Given the description of an element on the screen output the (x, y) to click on. 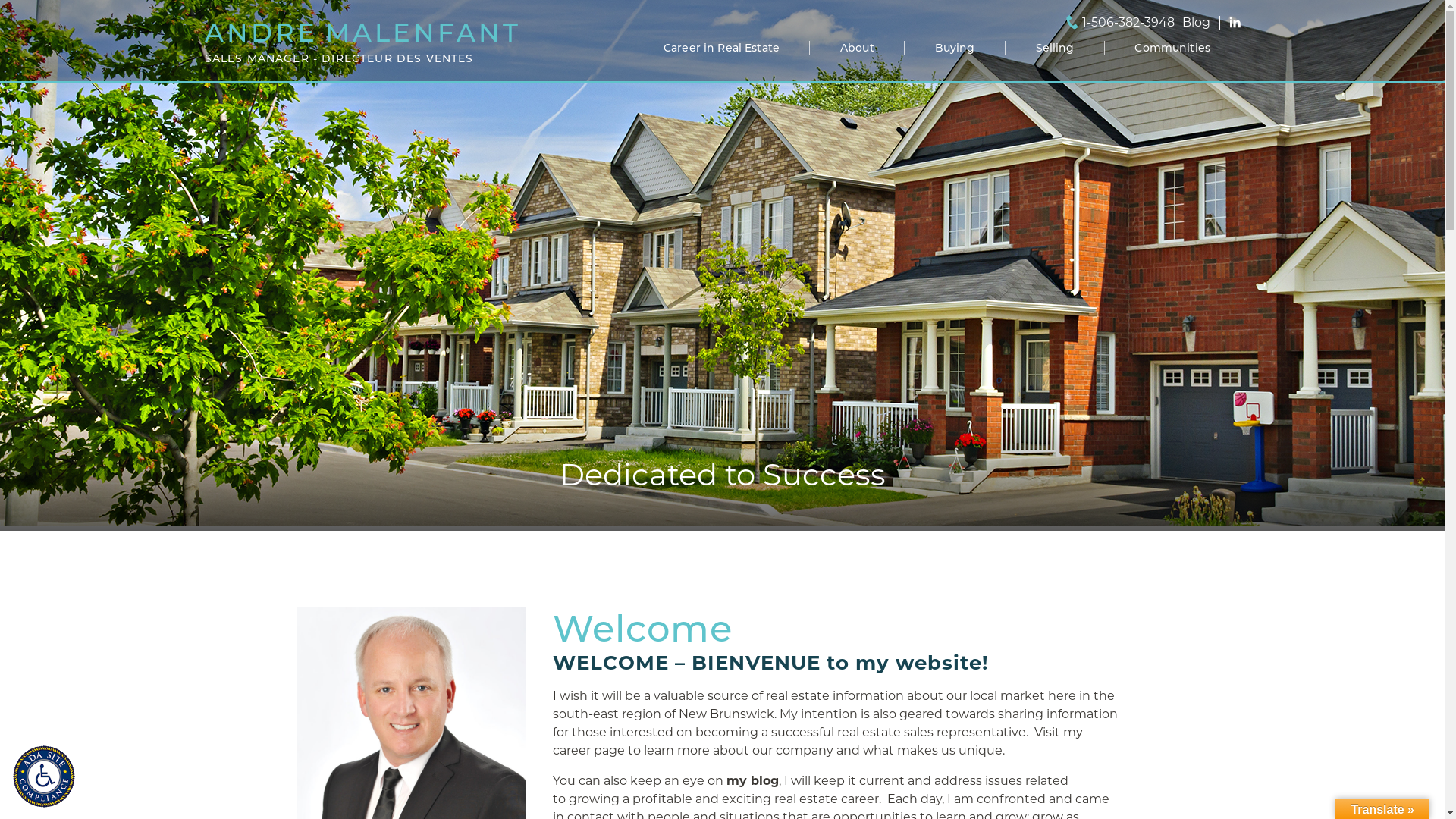
1-506-382-3948 Element type: text (1127, 22)
ANDRE
MALENFANT
SALES MANAGER - DIRECTEUR DES VENTES Element type: text (362, 40)
Accessibility Menu Element type: hover (47, 780)
Career in Real Estate Element type: text (721, 47)
About Element type: text (856, 47)
Blog Element type: text (1195, 22)
Communities Element type: text (1172, 47)
Accessibility Menu Element type: hover (43, 776)
Selling Element type: text (1054, 47)
Buying Element type: text (954, 47)
